Given the description of an element on the screen output the (x, y) to click on. 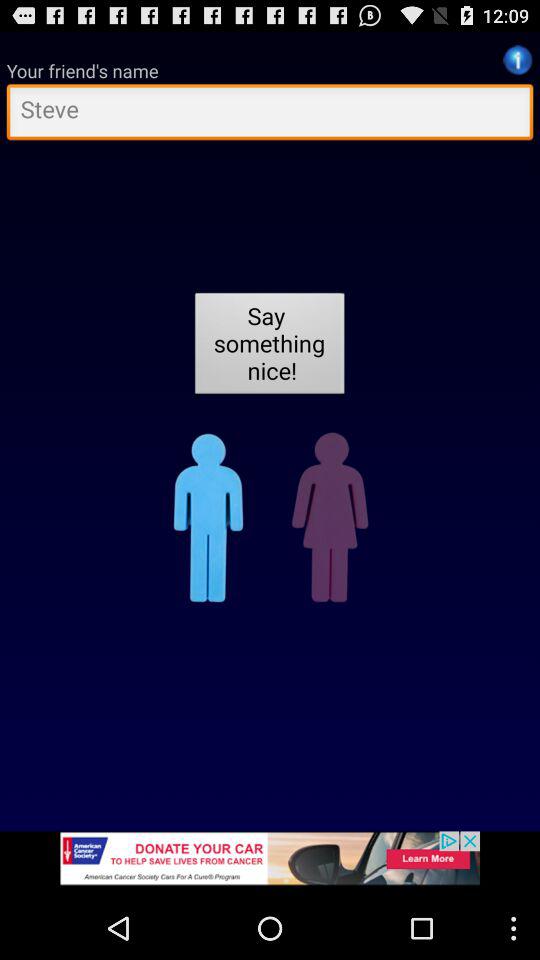
input name (269, 113)
